Given the description of an element on the screen output the (x, y) to click on. 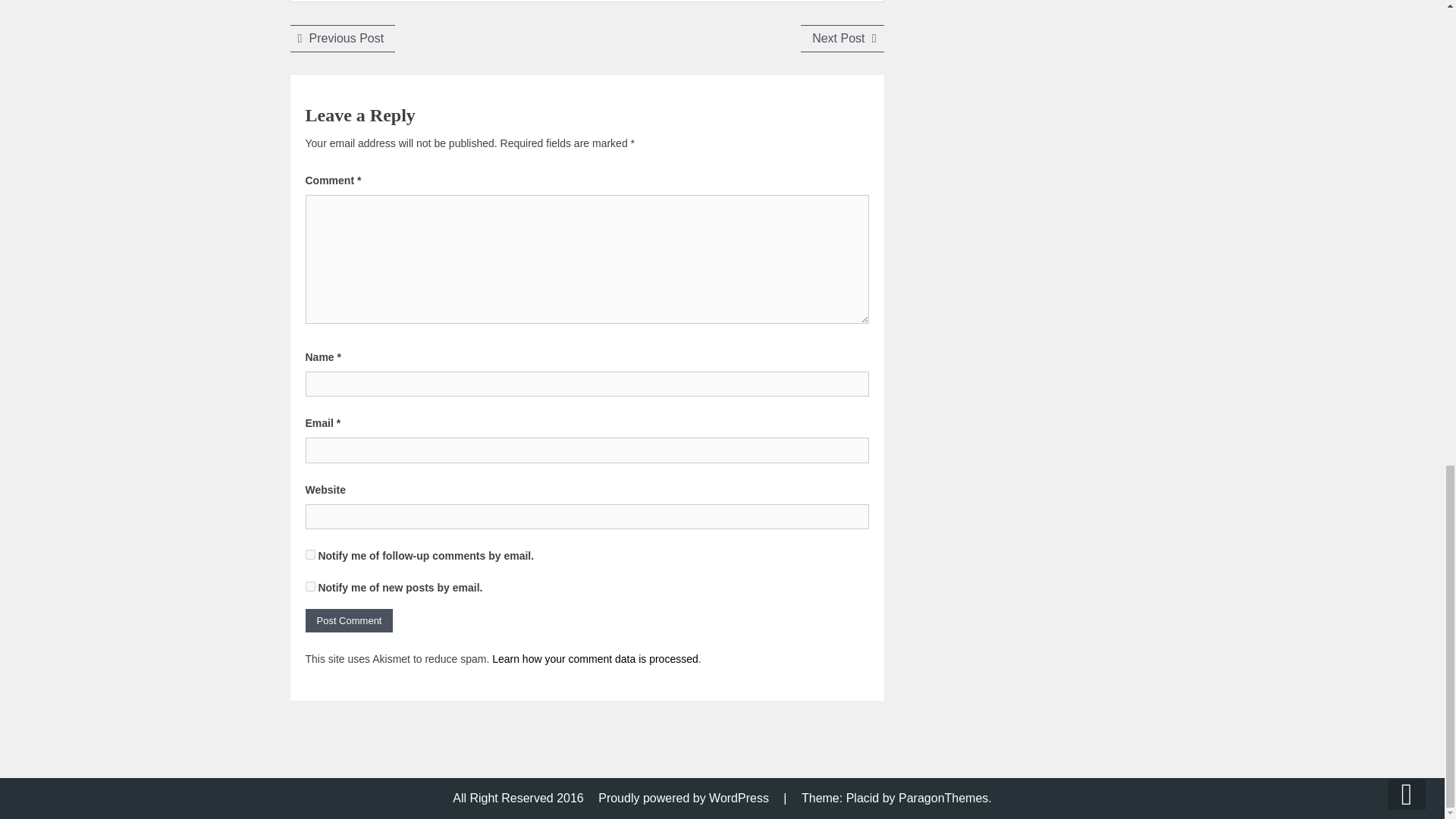
subscribe (309, 554)
subscribe (309, 586)
Post Comment (348, 620)
Proudly powered by WordPress (841, 37)
ParagonThemes (341, 37)
Learn how your comment data is processed (683, 797)
Post Comment (943, 797)
